Given the description of an element on the screen output the (x, y) to click on. 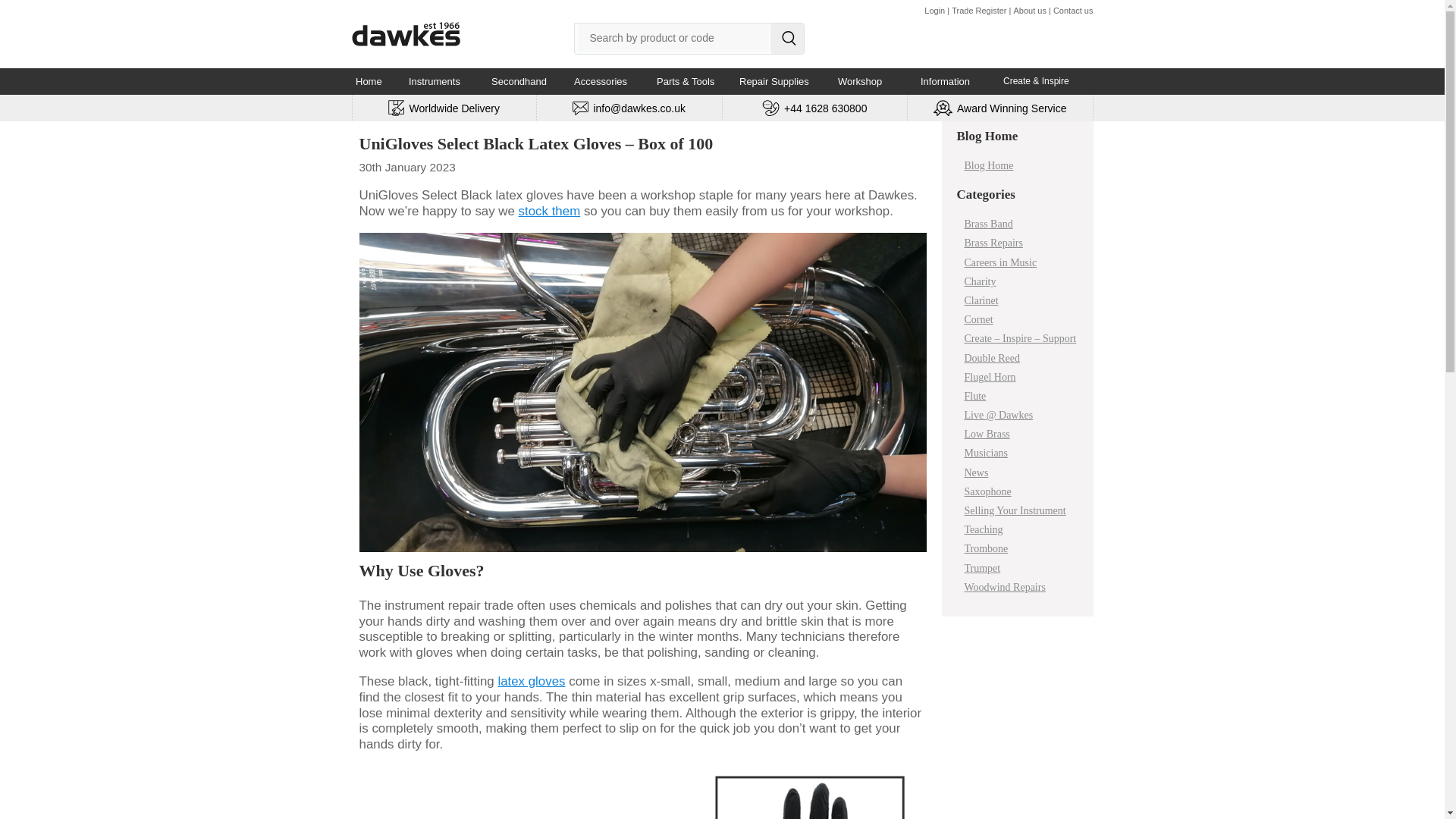
About us (1029, 10)
Instruments (442, 81)
Login (934, 10)
Contact us (1072, 10)
Trade Register (979, 10)
Home (375, 81)
